Given the description of an element on the screen output the (x, y) to click on. 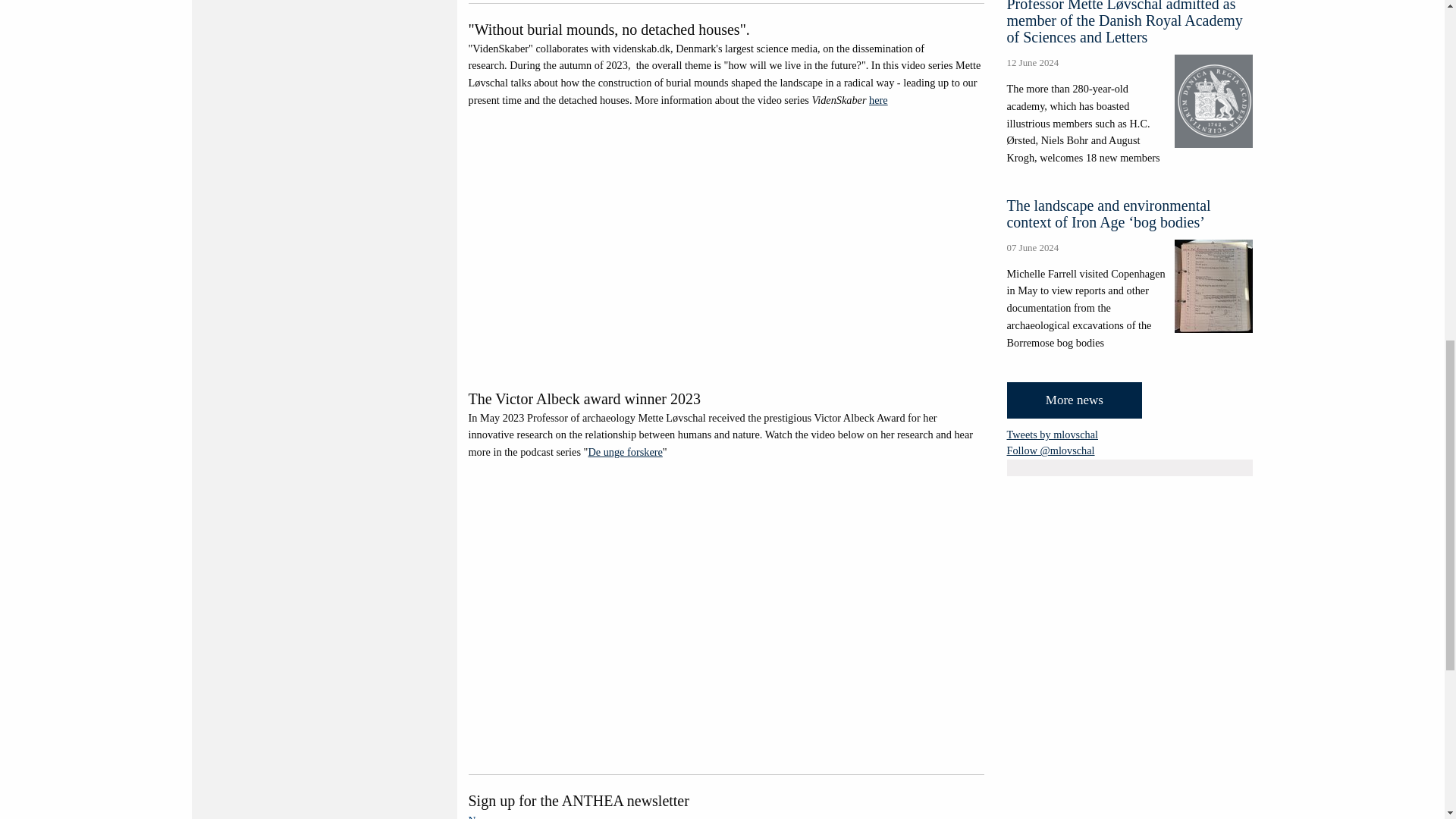
YouTube video player (722, 242)
here (878, 100)
Tweets by mlovschal (1053, 434)
More news (1074, 400)
De unge forskere (625, 451)
